Given the description of an element on the screen output the (x, y) to click on. 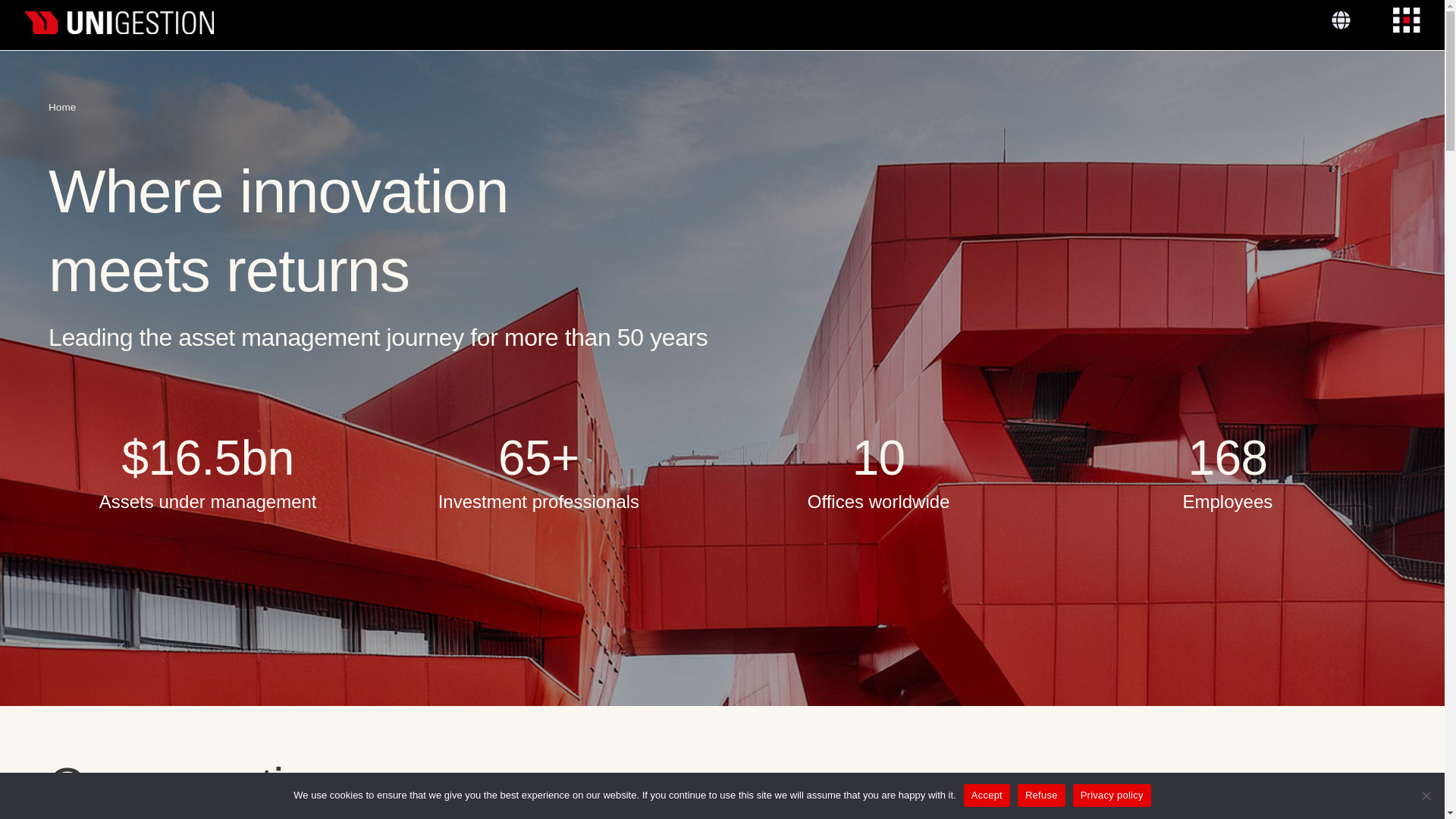
Skip to content (15, 7)
Refuse (1425, 795)
